Given the description of an element on the screen output the (x, y) to click on. 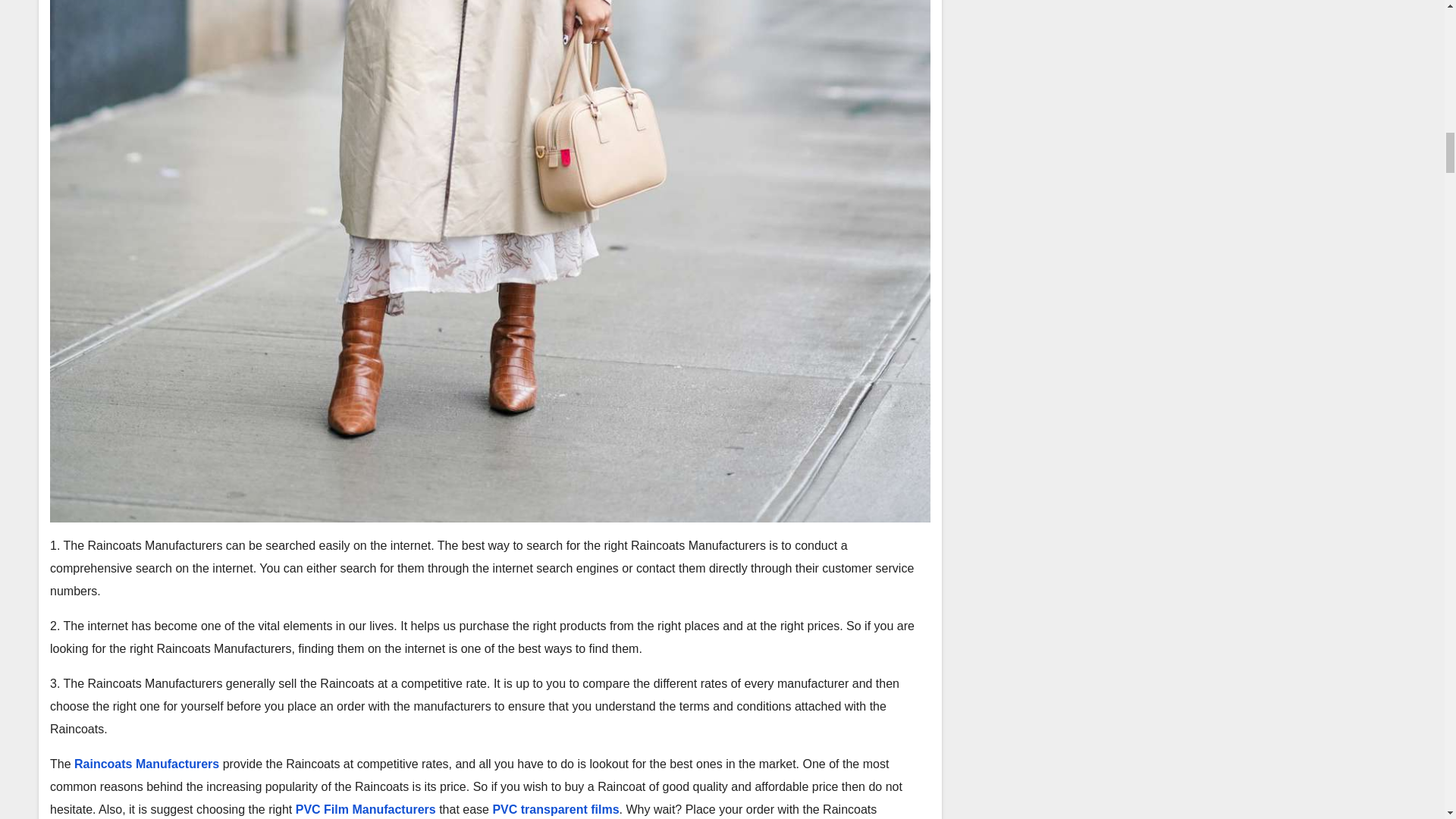
Raincoats Manufacturers (146, 763)
PVC Film Manufacturers (365, 809)
PVC transparent films (555, 809)
